Given the description of an element on the screen output the (x, y) to click on. 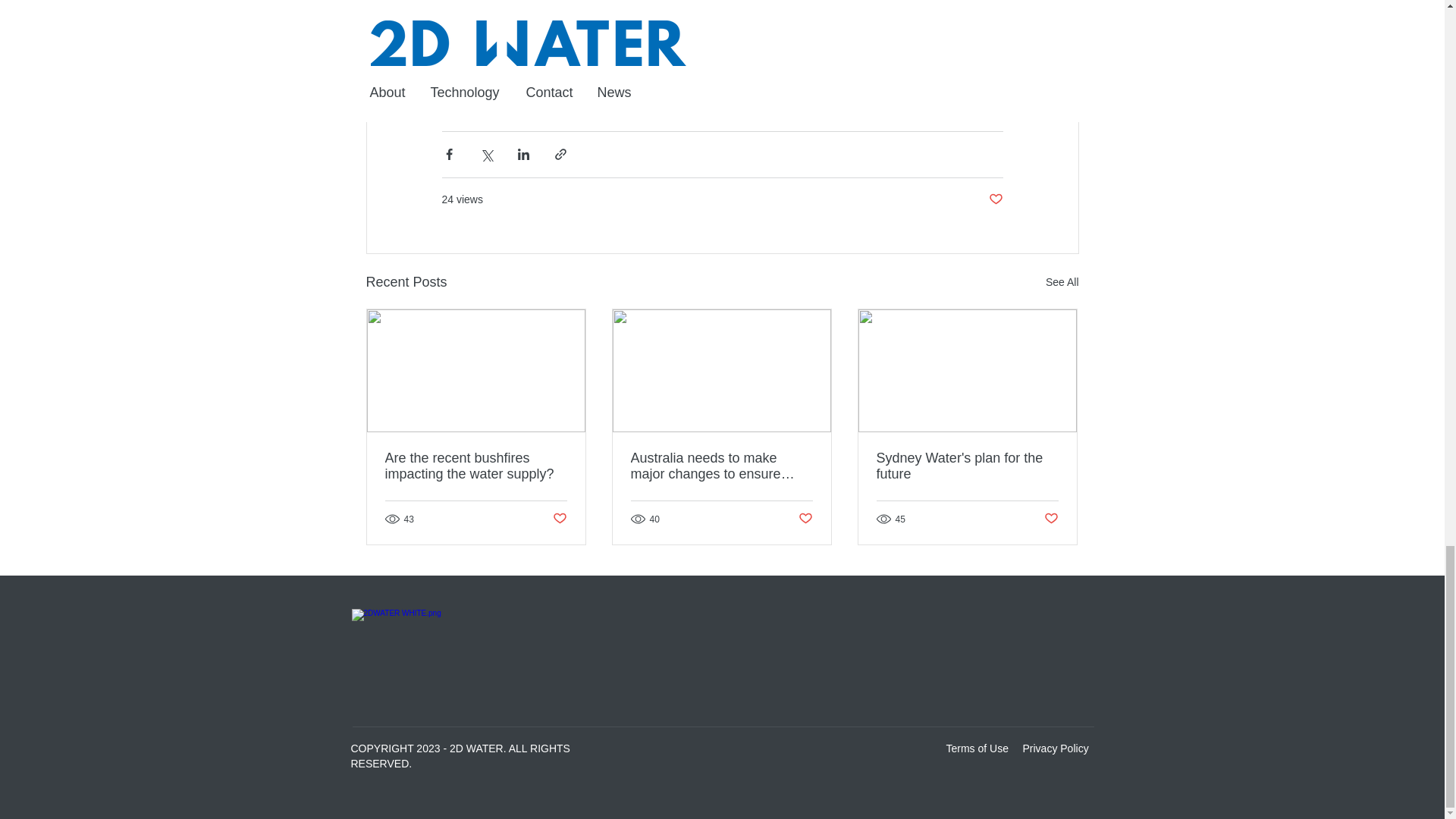
Post not marked as liked (1050, 519)
Post not marked as liked (995, 199)
Terms of Use (977, 748)
See All (1061, 282)
Privacy Policy (1054, 748)
Post not marked as liked (558, 519)
Sydney Water's plan for the future (967, 466)
Post not marked as liked (804, 519)
Are the recent bushfires impacting the water supply? (476, 466)
